Given the description of an element on the screen output the (x, y) to click on. 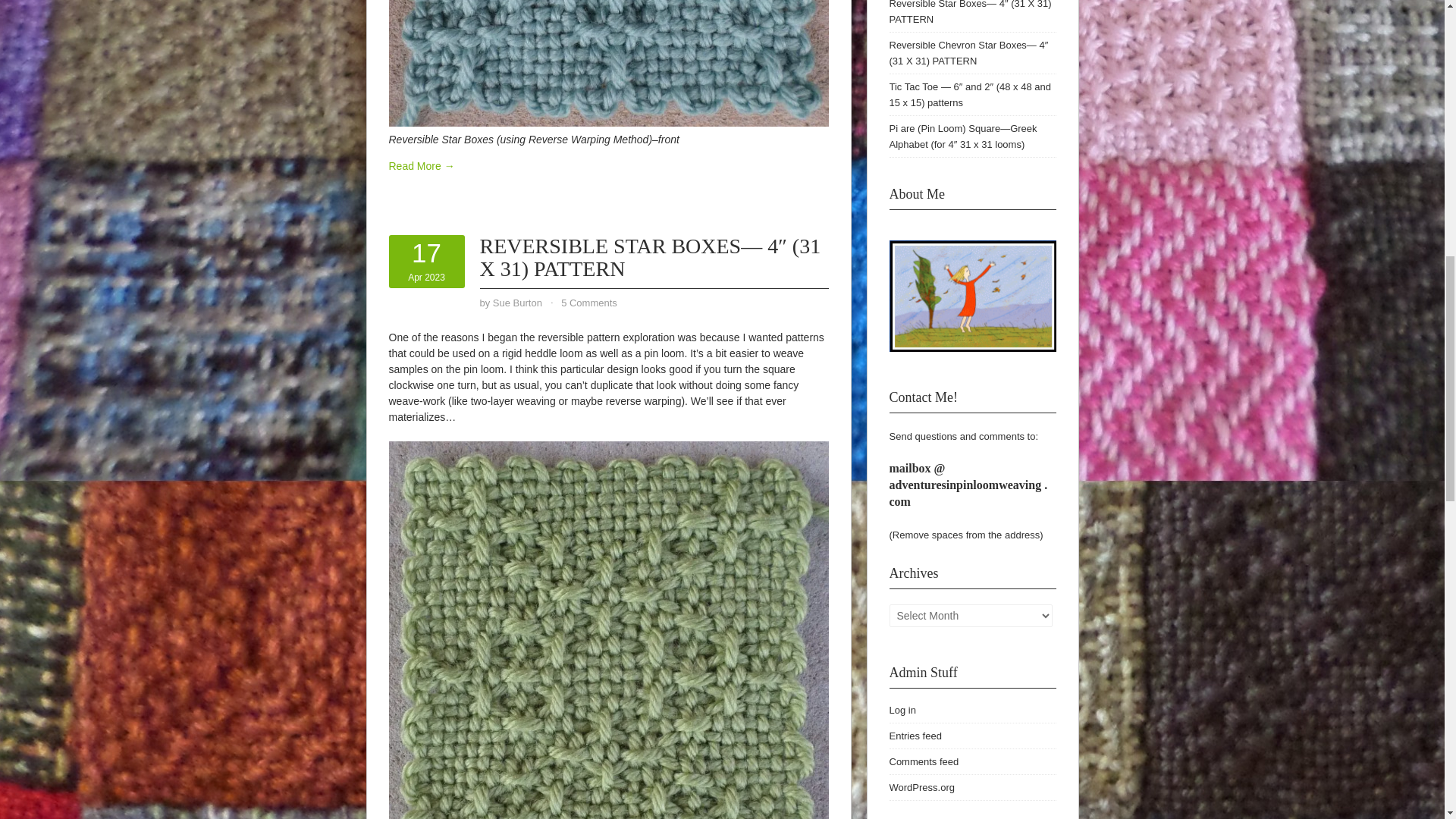
5 Comments (588, 302)
Sue Burton (517, 302)
Comments feed (923, 761)
Log in (901, 709)
by Sue Burton (426, 260)
Entries feed (517, 302)
WordPress.org (914, 736)
17 April 2023 4:48 PM (920, 787)
